Given the description of an element on the screen output the (x, y) to click on. 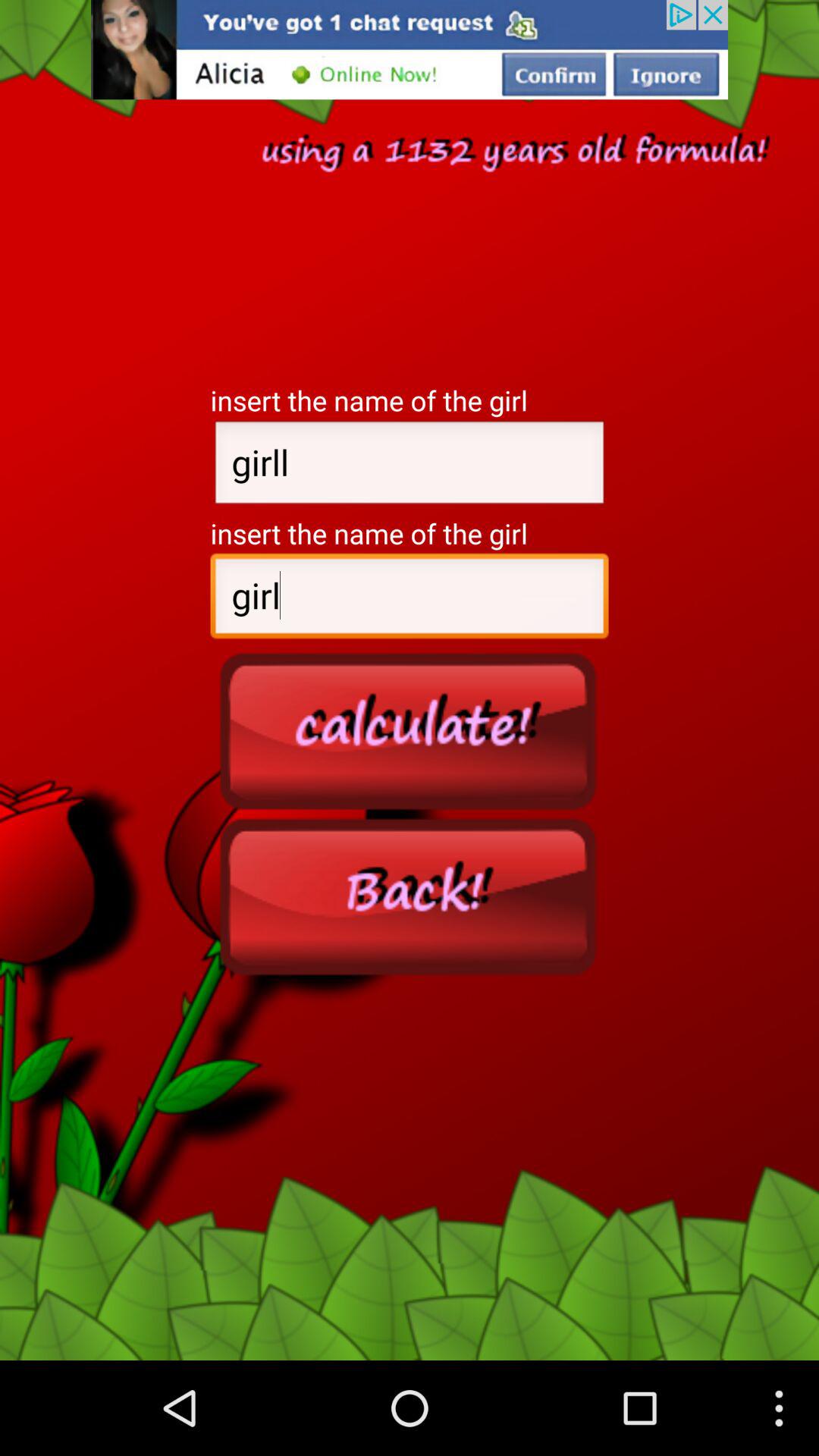
advertisement for chatting app (409, 49)
